Given the description of an element on the screen output the (x, y) to click on. 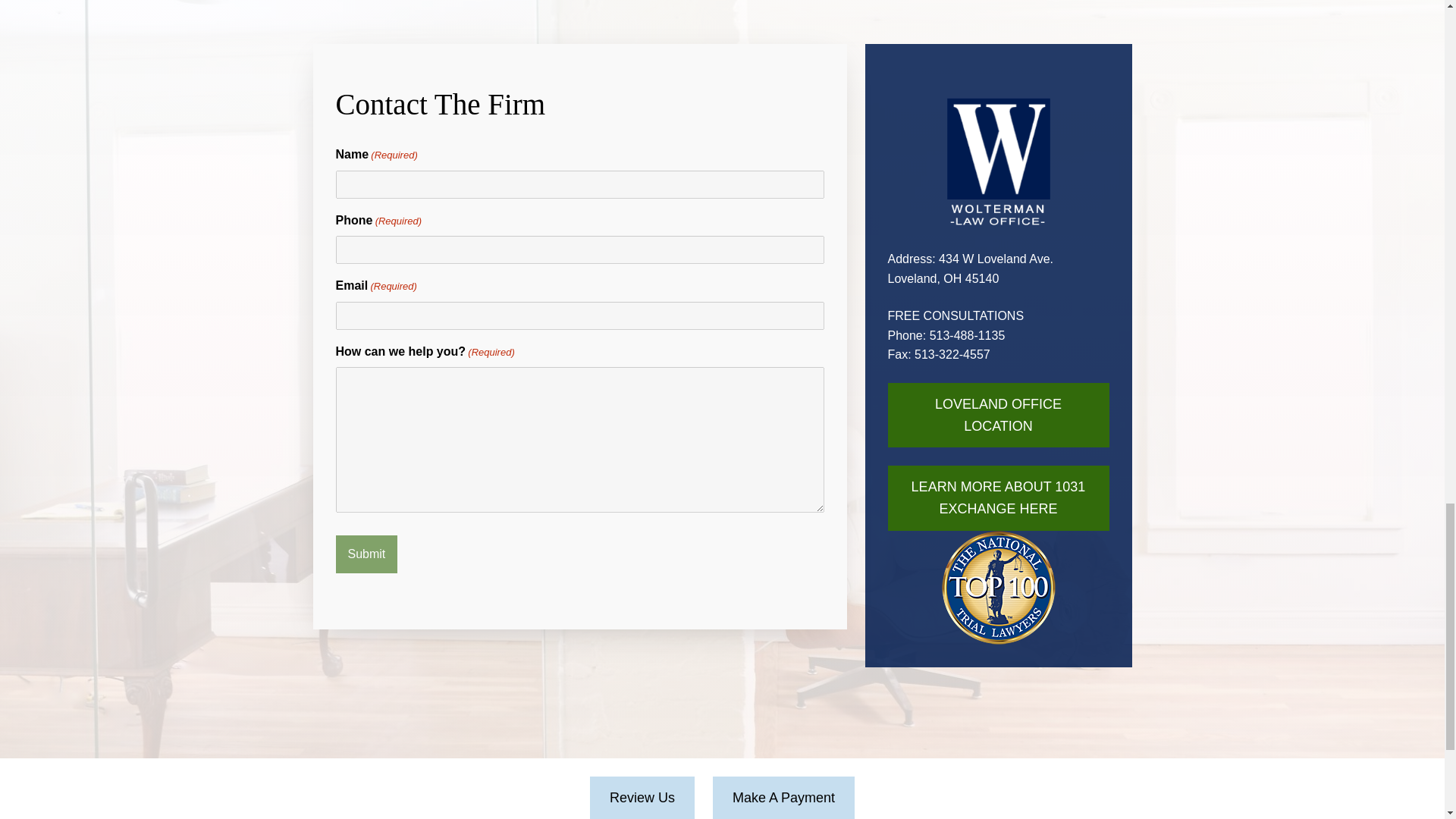
Submit (365, 554)
